Given the description of an element on the screen output the (x, y) to click on. 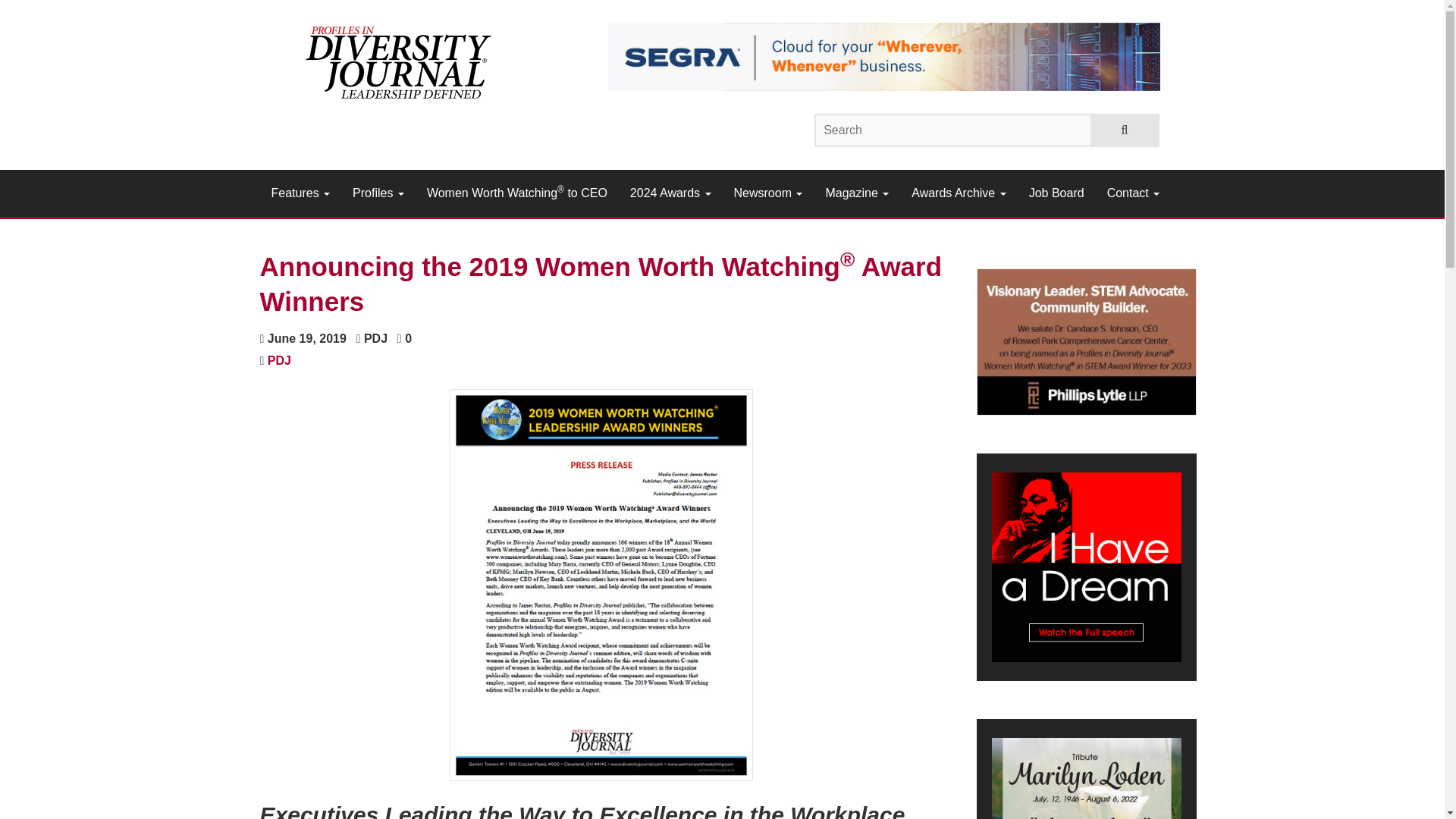
2024 Awards (670, 193)
Profiles (377, 193)
Features (299, 193)
Newsroom (767, 193)
Profiles (377, 193)
Features (299, 193)
